Given the description of an element on the screen output the (x, y) to click on. 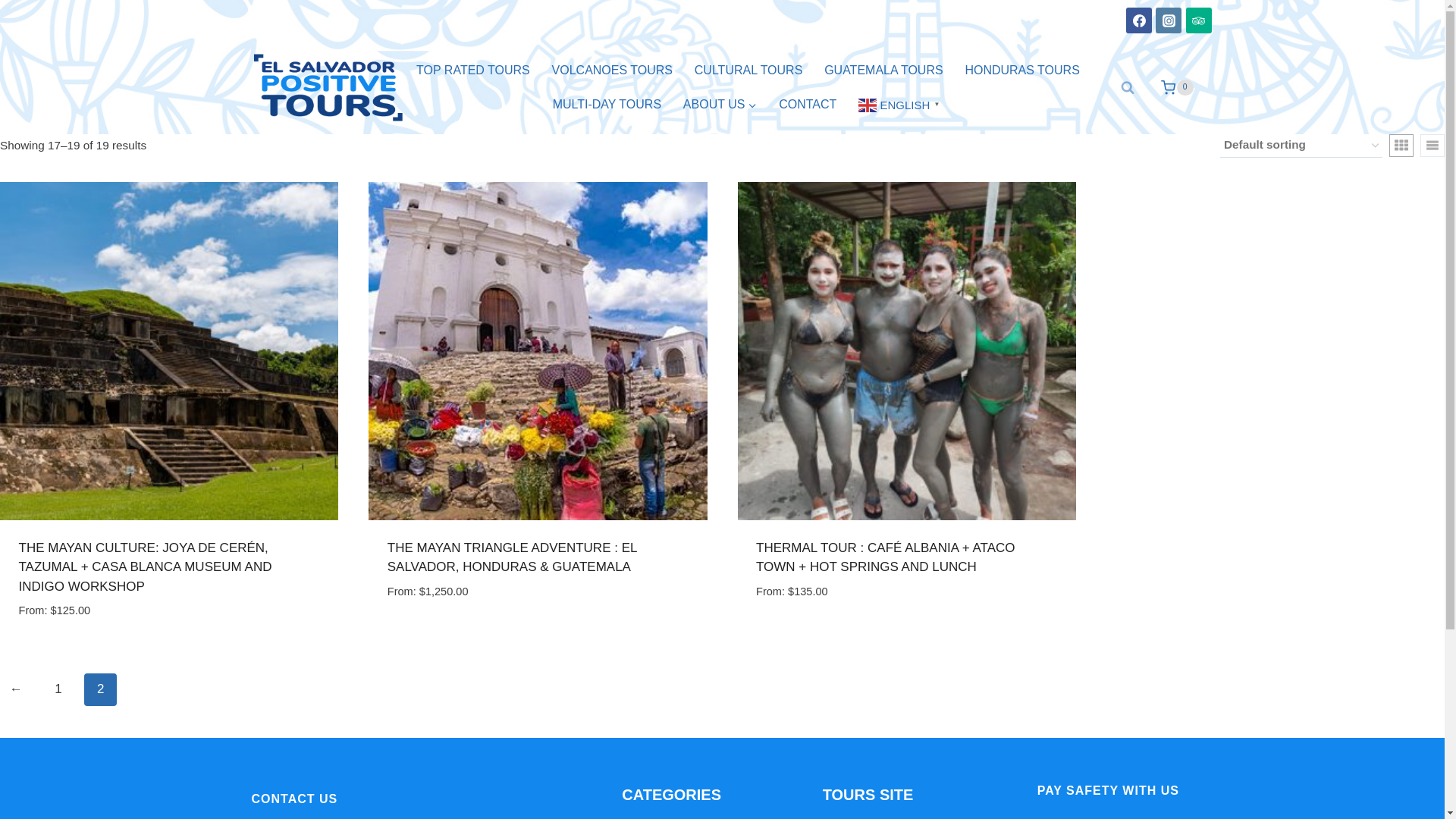
TOP RATED TOURS (473, 70)
HONDURAS TOURS (1021, 70)
MULTI-DAY TOURS (606, 104)
CULTURAL TOURS (747, 70)
GUATEMALA TOURS (883, 70)
Grid View (1401, 145)
ABOUT US (719, 104)
0 (1170, 87)
VOLCANOES TOURS (611, 70)
CONTACT (807, 104)
